Given the description of an element on the screen output the (x, y) to click on. 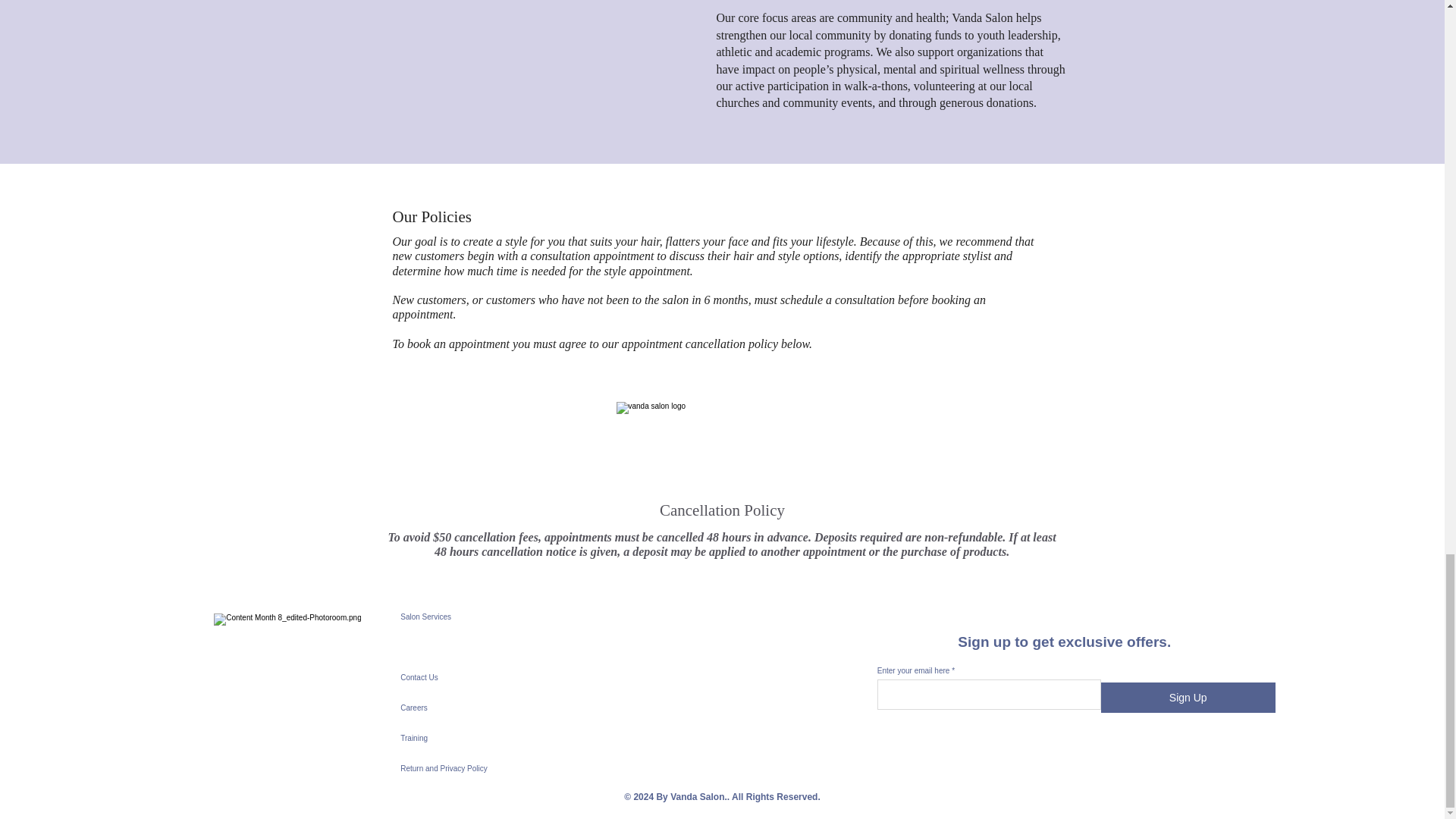
Training (470, 738)
Return and Privacy Policy (470, 768)
About (470, 647)
Contact Us (470, 677)
Sign Up (1187, 697)
Salon Services (470, 616)
Careers (470, 707)
